Given the description of an element on the screen output the (x, y) to click on. 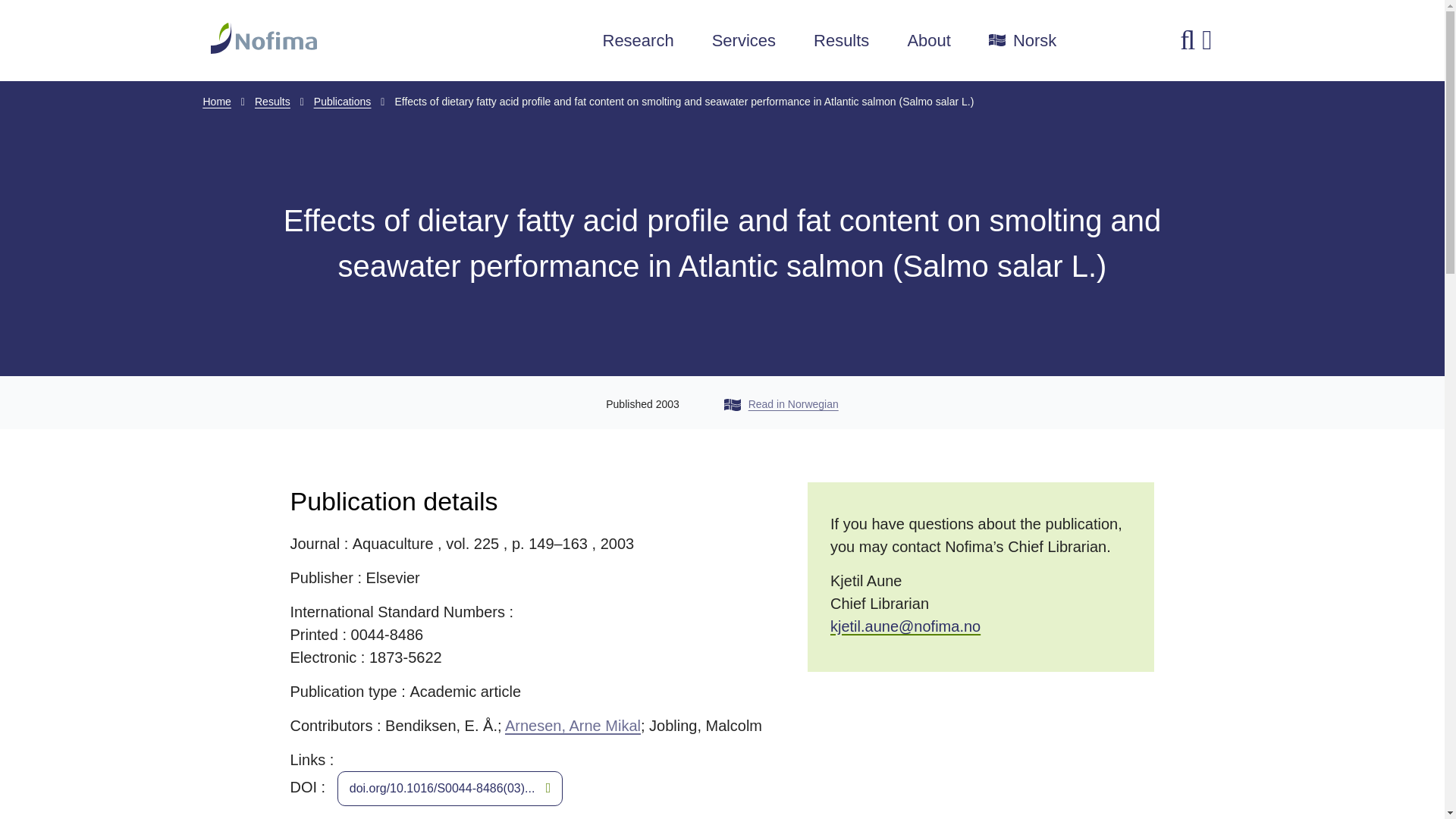
Services (743, 40)
Norsk (1022, 41)
Go to Publications. (342, 101)
Research (638, 40)
Nofima (350, 38)
About (928, 40)
Publications (342, 101)
Results (841, 40)
Results (271, 101)
Read in Norwegian (780, 404)
